Given the description of an element on the screen output the (x, y) to click on. 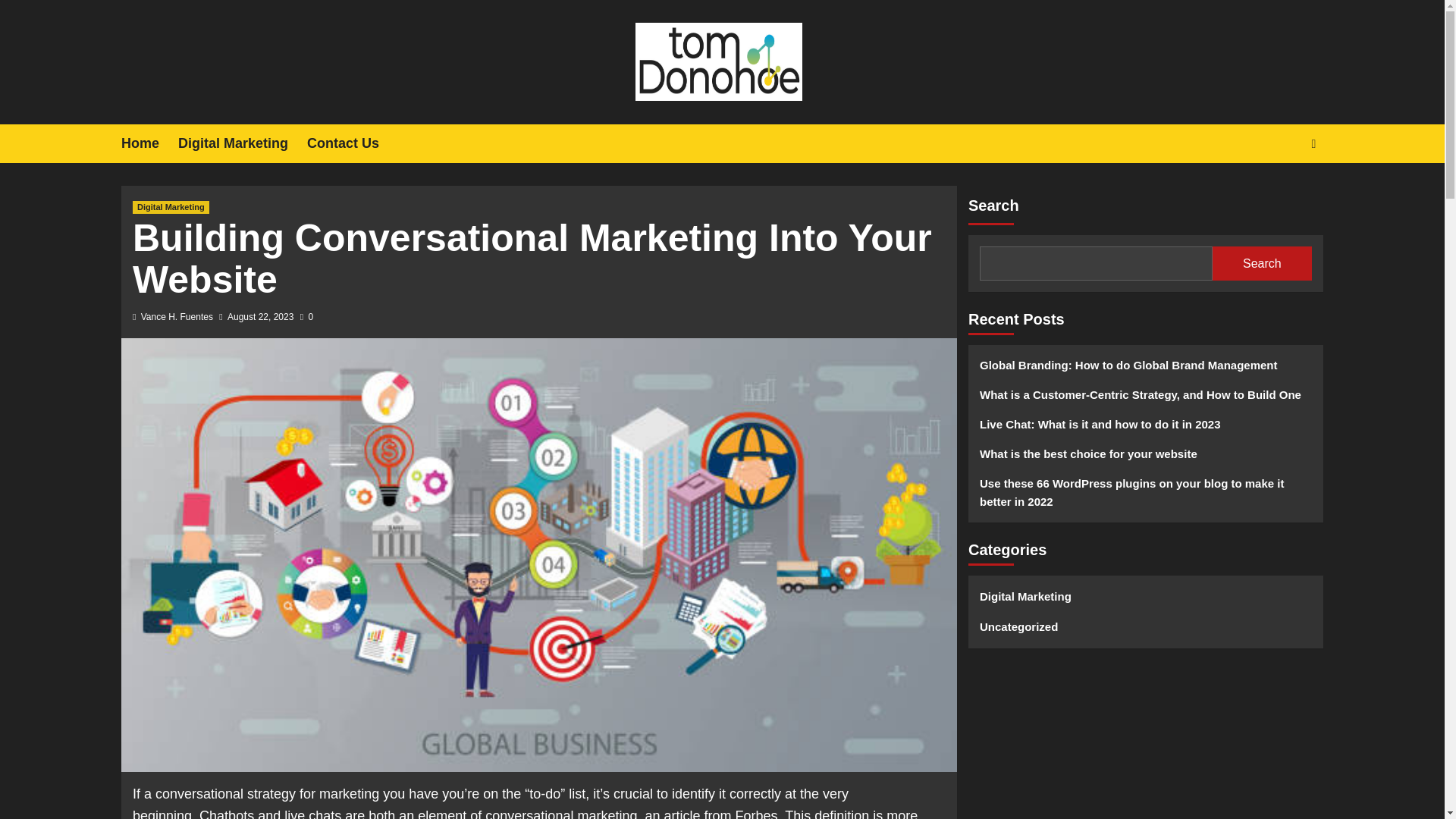
Search (1278, 189)
Digital Marketing (170, 206)
Global Branding: How to do Global Brand Management (1145, 370)
0 (306, 317)
Vance H. Fuentes (176, 317)
What is a Customer-Centric Strategy, and How to Build One (1145, 400)
Search (1261, 263)
August 22, 2023 (260, 317)
Digital Marketing (242, 143)
Contact Us (352, 143)
Home (148, 143)
